Given the description of an element on the screen output the (x, y) to click on. 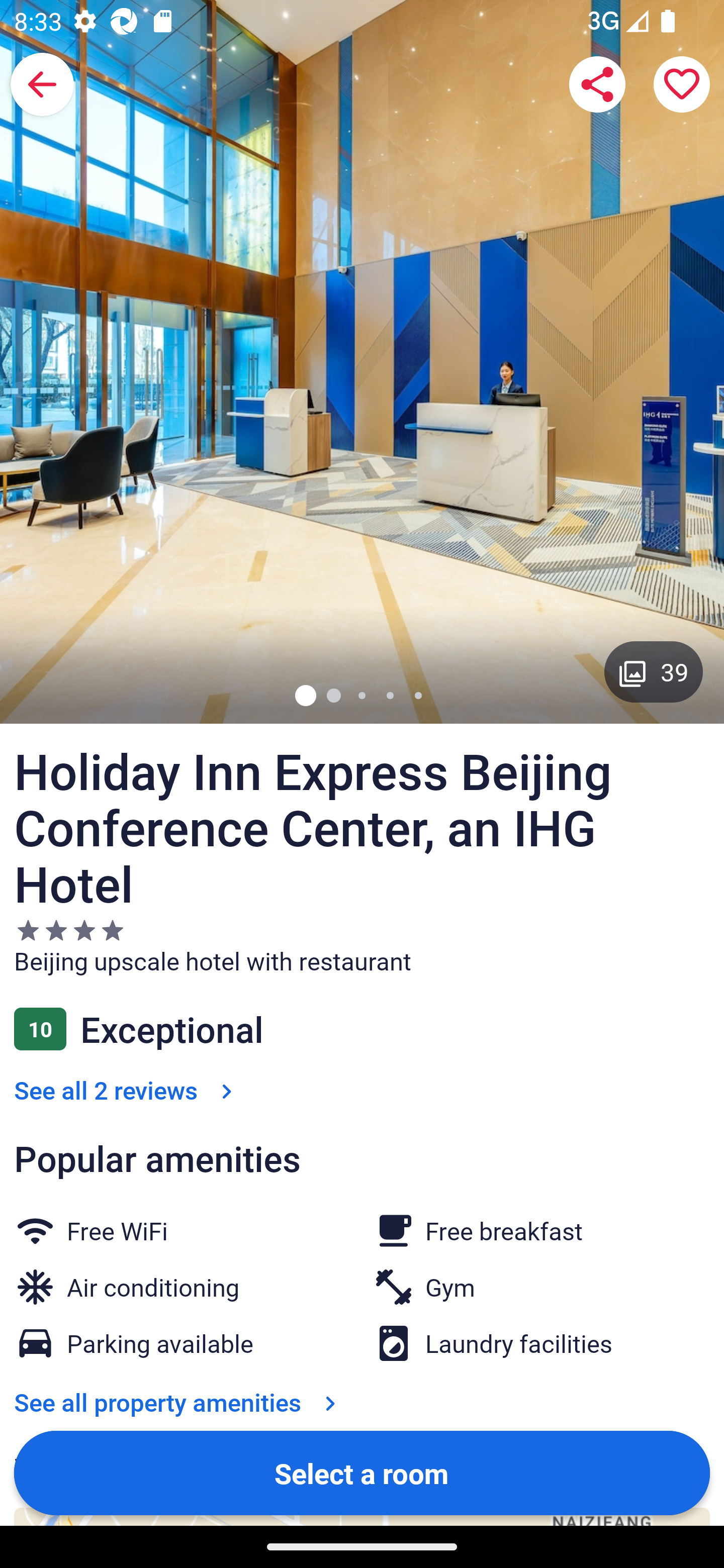
Back (42, 84)
Save property to a trip (681, 84)
Gallery button with 39 images (653, 671)
See all 2 reviews See all 2 reviews Link (126, 1089)
See all property amenities (178, 1401)
Select a room Button Select a room (361, 1472)
